Given the description of an element on the screen output the (x, y) to click on. 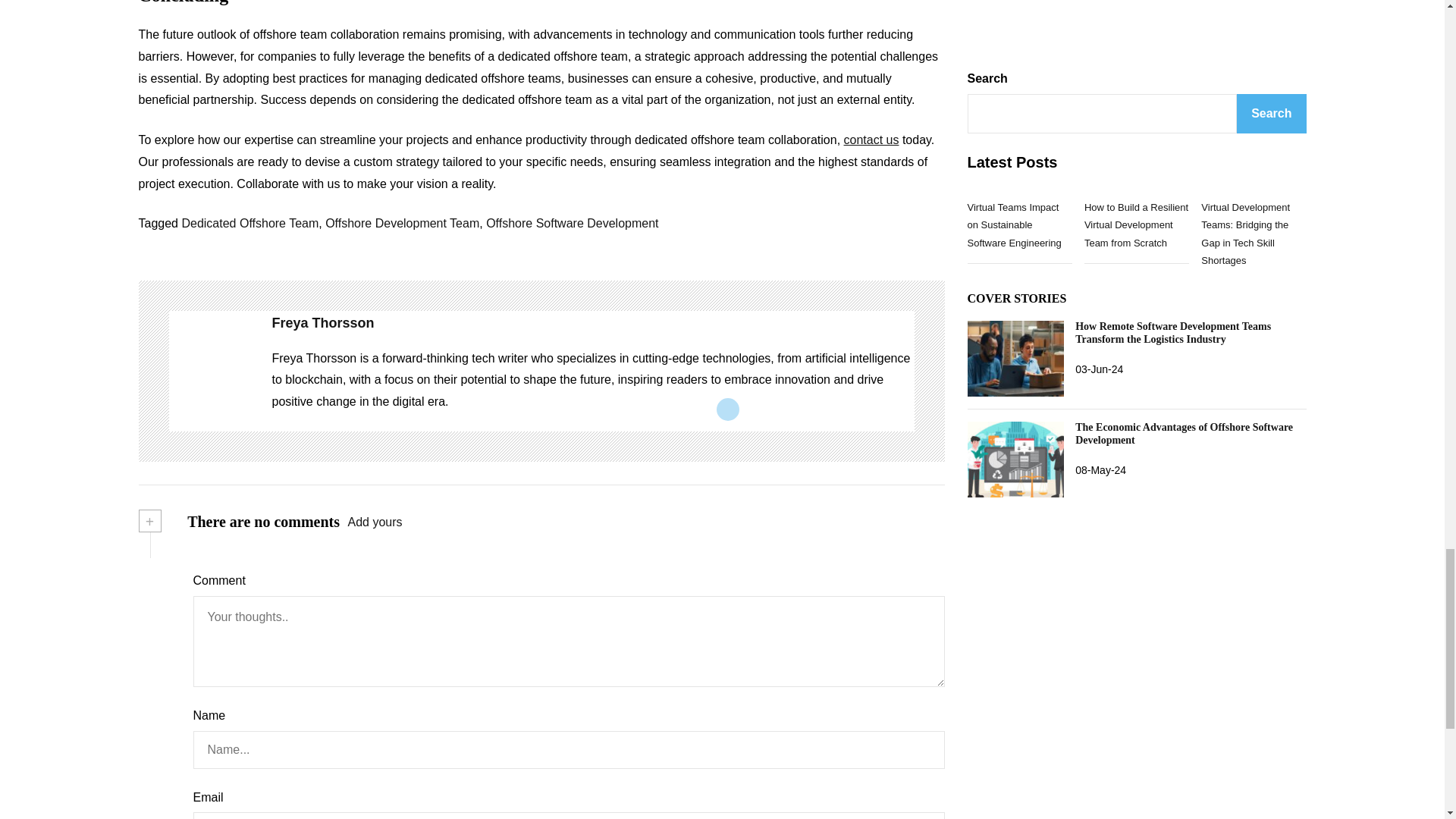
Freya Thorsson (592, 322)
Freya Thorsson (212, 371)
